Given the description of an element on the screen output the (x, y) to click on. 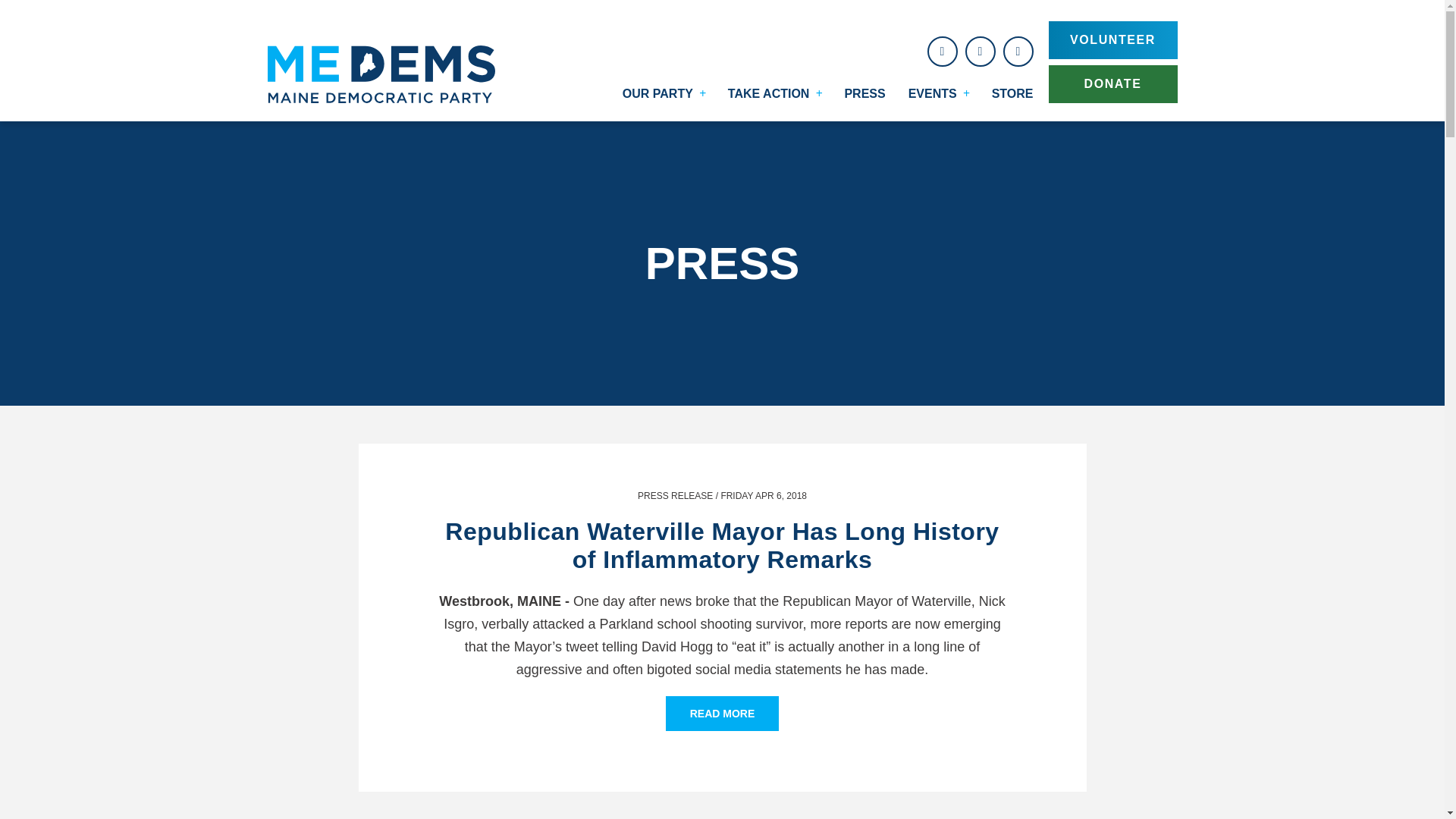
Maine Democratic Party on Facebook (941, 51)
 Home (380, 60)
OUR PARTY (653, 98)
Maine Democratic Party on Twitter (978, 51)
Events (928, 98)
Maine Democratic Party on Instagram (1017, 51)
PRESS (867, 98)
DONATE (1112, 84)
Maine Democratic Party on Twitter (978, 51)
